Given the description of an element on the screen output the (x, y) to click on. 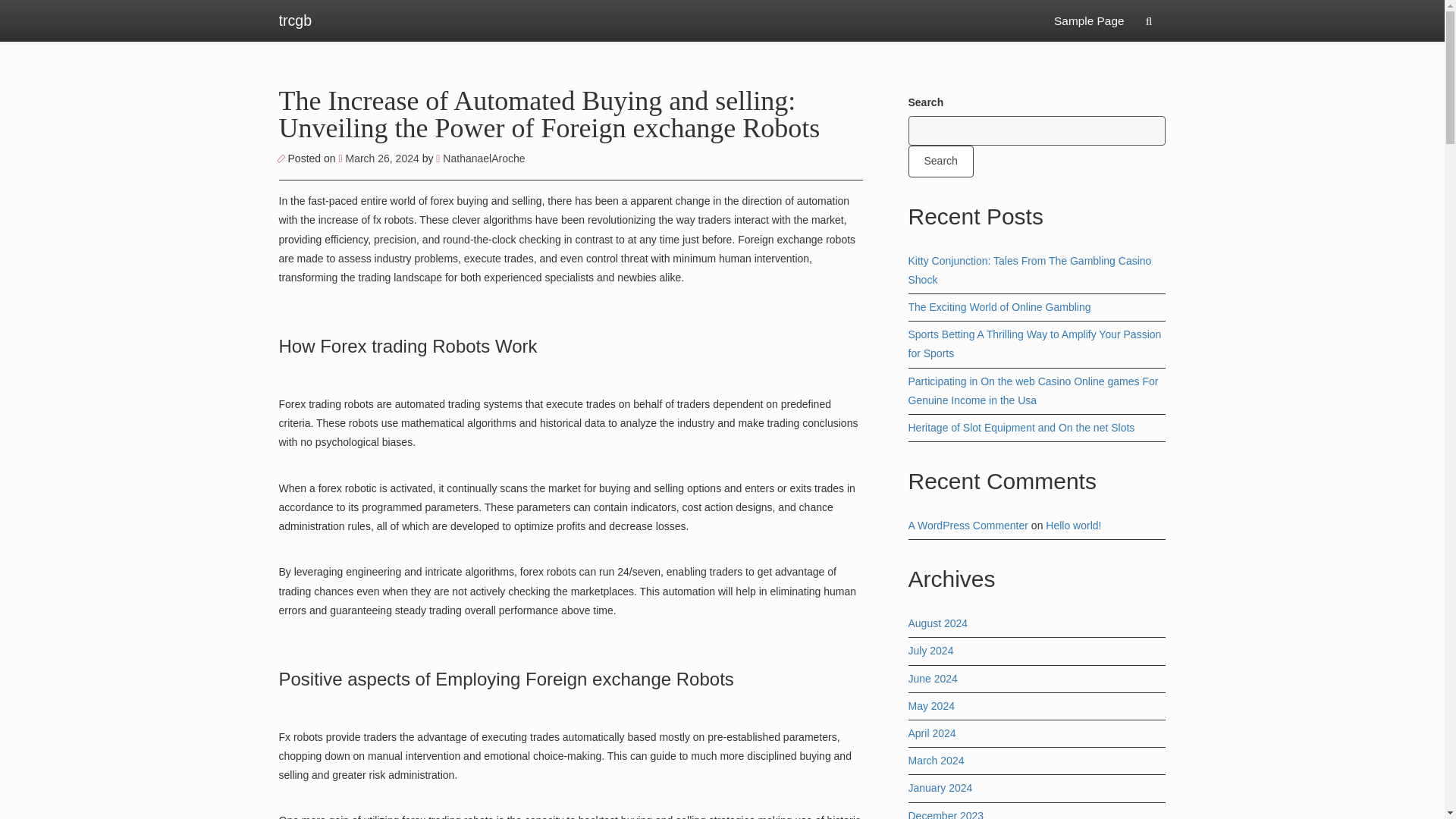
March 26, 2024 (379, 158)
2:51 am (379, 158)
A WordPress Commenter (967, 525)
The Exciting World of Online Gambling (999, 306)
Heritage of Slot Equipment and On the net Slots (1021, 427)
April 2024 (932, 733)
Search (941, 160)
January 2024 (940, 787)
May 2024 (931, 705)
June 2024 (933, 678)
NathanaelAroche (479, 158)
July 2024 (930, 650)
Sample Page (1088, 20)
